Given the description of an element on the screen output the (x, y) to click on. 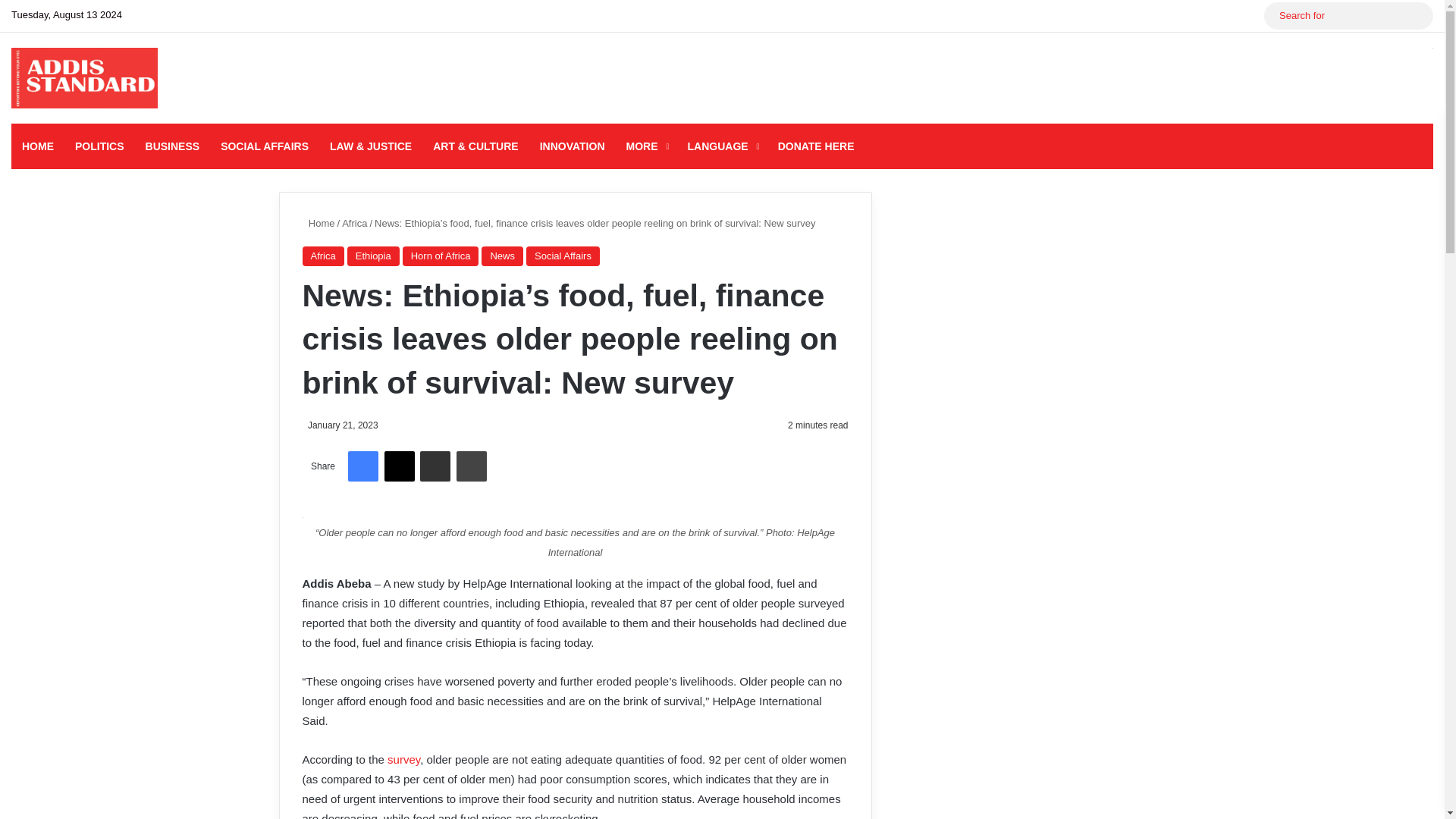
Print (471, 466)
Facebook (362, 466)
Search for (1347, 15)
Share via Email (434, 466)
SOCIAL AFFAIRS (263, 145)
Addis Standard (84, 77)
Search for (1417, 15)
HOME (37, 145)
POLITICS (99, 145)
X (399, 466)
